Given the description of an element on the screen output the (x, y) to click on. 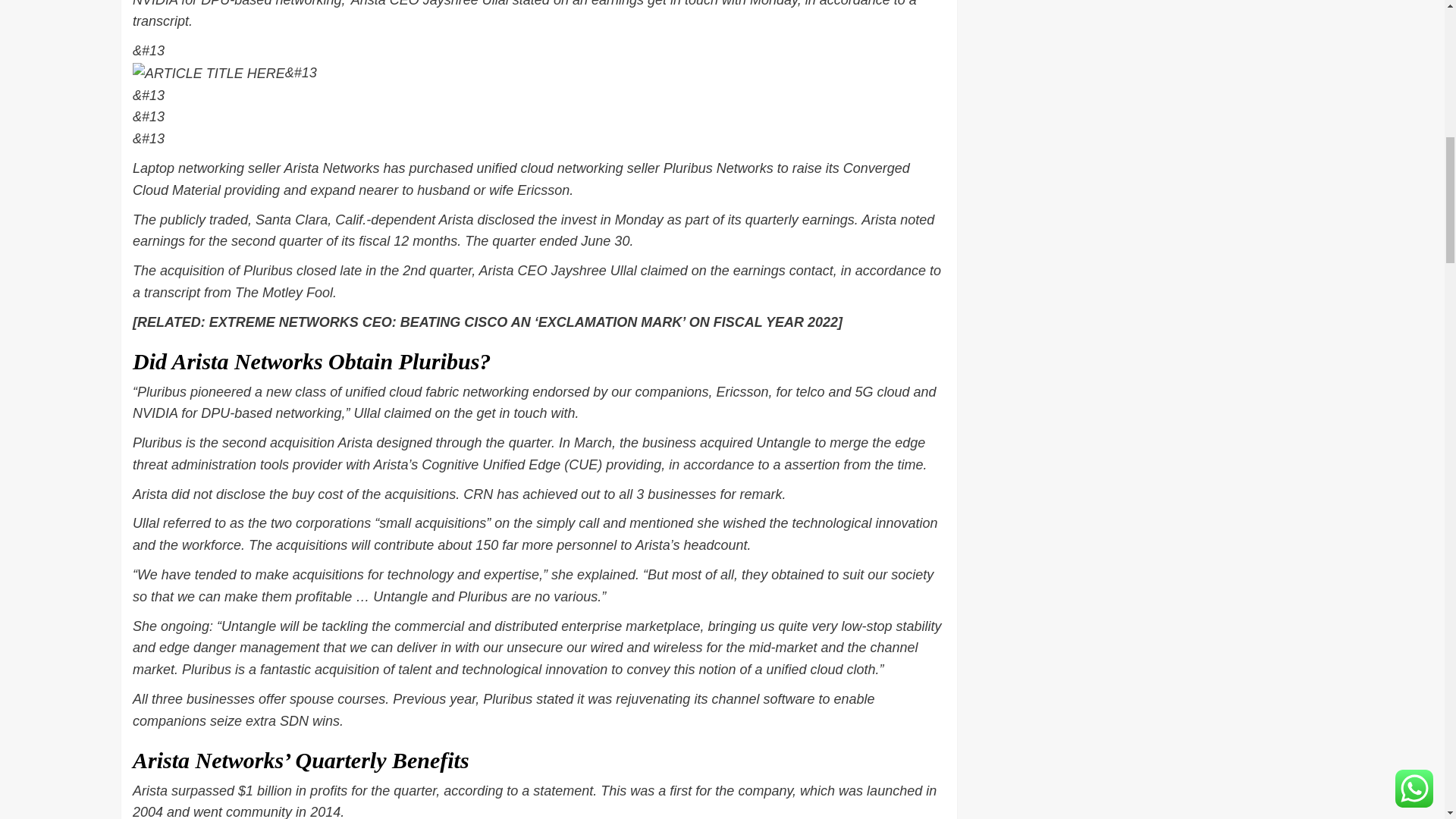
in accordance (711, 464)
 ARTICLE TITLE HERE  (208, 74)
